Given the description of an element on the screen output the (x, y) to click on. 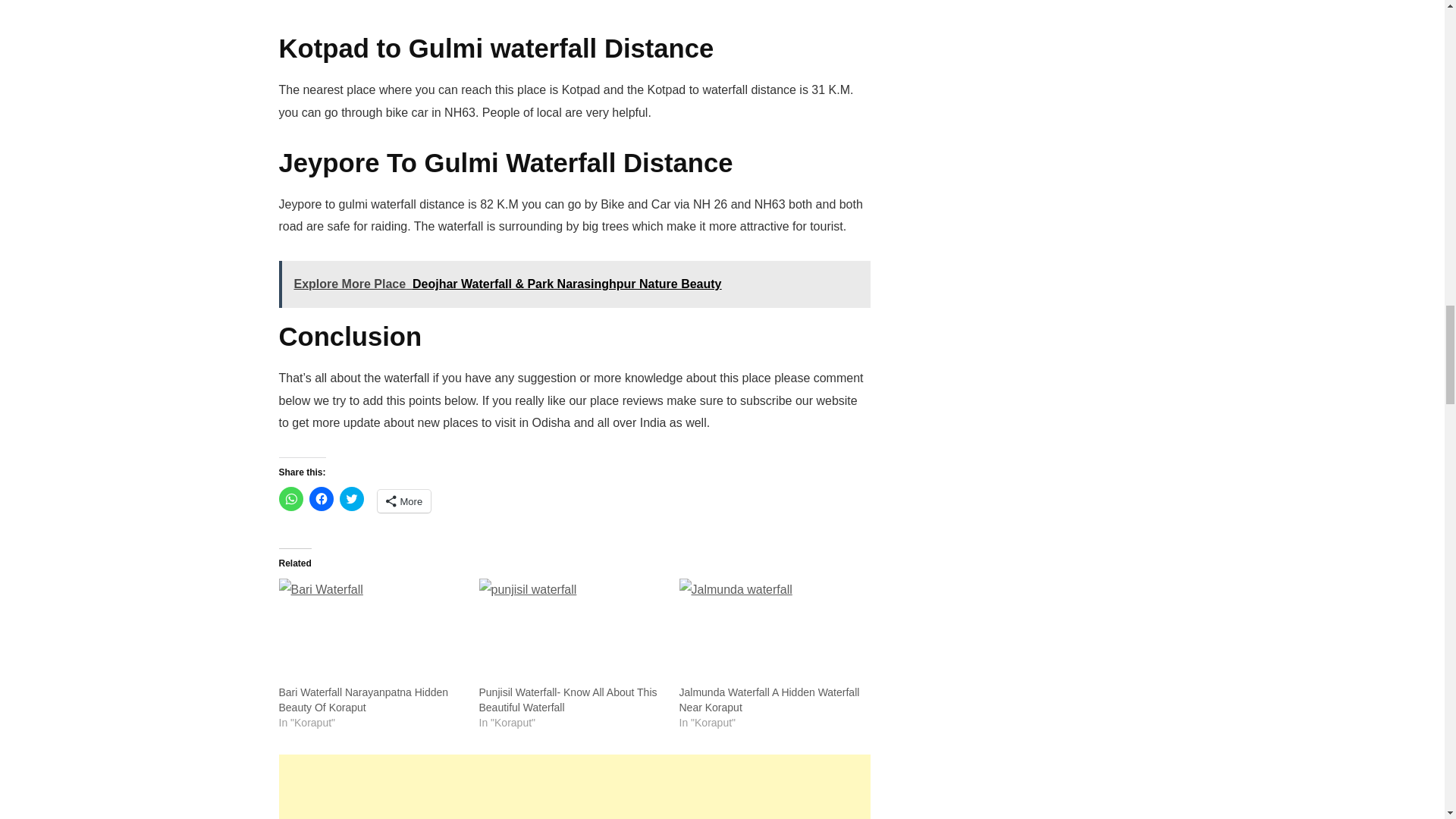
More (403, 500)
Click to share on Facebook (320, 498)
Click to share on WhatsApp (290, 498)
Click to share on Twitter (351, 498)
Bari Waterfall Narayanpatna Hidden Beauty Of Koraput (363, 699)
Bari Waterfall Narayanpatna Hidden Beauty Of Koraput (371, 630)
Punjisil Waterfall- Know All About This Beautiful Waterfall (571, 630)
